Given the description of an element on the screen output the (x, y) to click on. 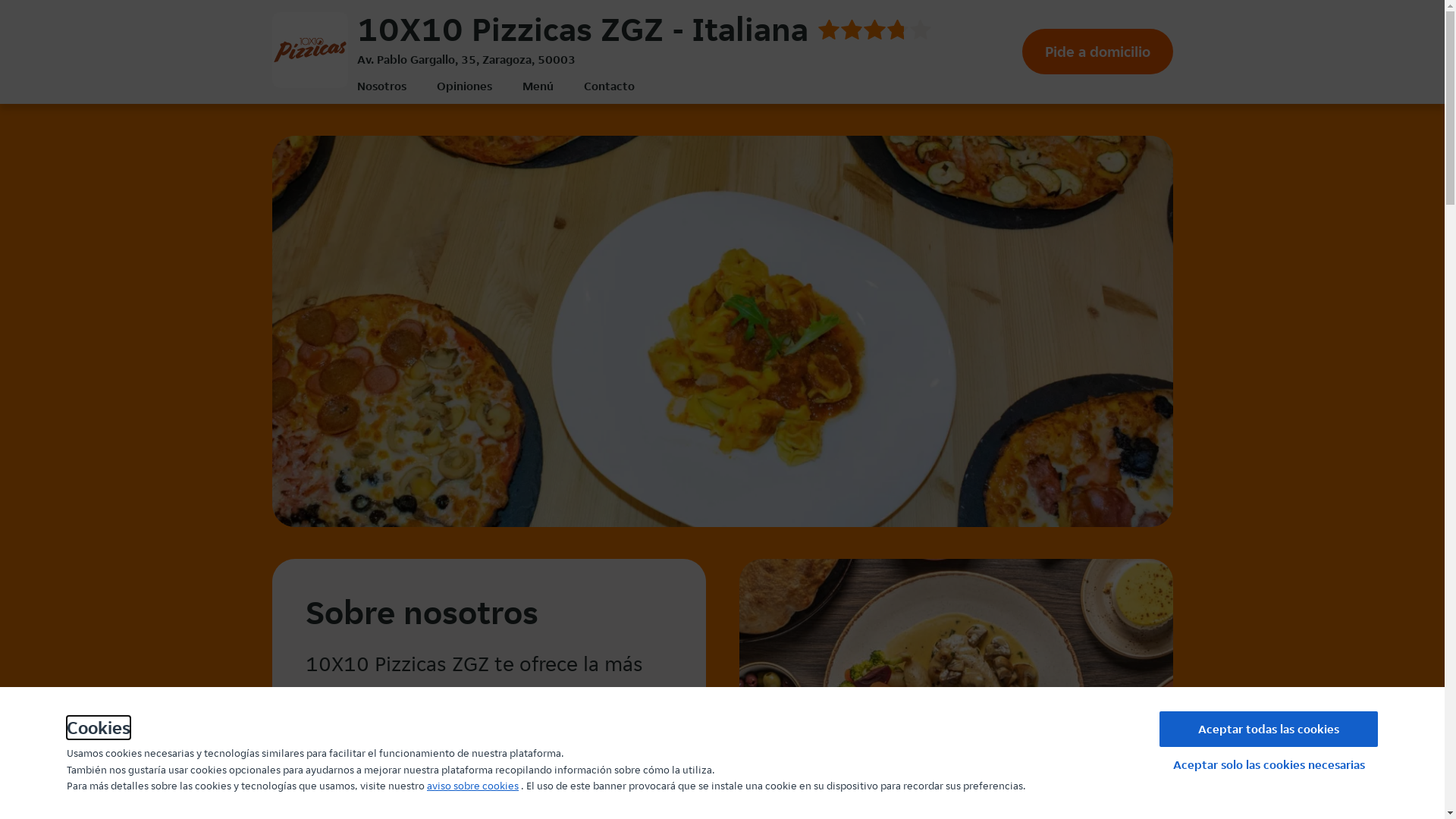
Nosotros Element type: text (380, 86)
Aceptar solo las cookies necesarias Element type: text (1268, 764)
Opiniones Element type: text (464, 86)
aviso sobre cookies Element type: text (472, 785)
Pide a domicilio Element type: text (1097, 51)
Contacto Element type: text (608, 86)
Cookies Element type: text (98, 727)
Aceptar todas las cookies Element type: text (1268, 728)
10X10 Pizzicas ZGZ Element type: hover (309, 49)
